Given the description of an element on the screen output the (x, y) to click on. 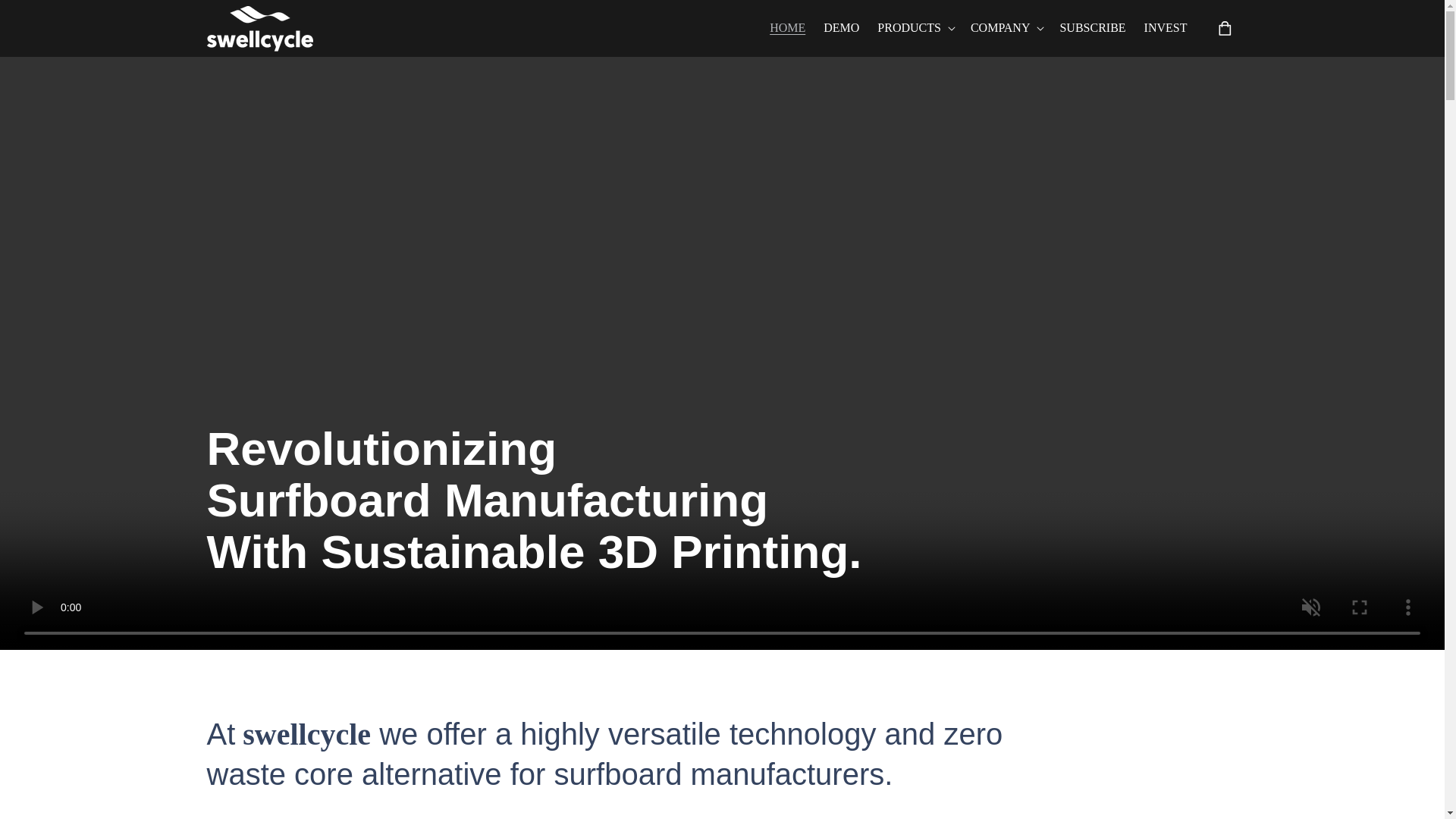
DEMO (840, 28)
SUBSCRIBE (1091, 28)
HOME (786, 28)
Cart (1225, 28)
SKIP TO CONTENT (58, 18)
INVEST (1165, 28)
